Given the description of an element on the screen output the (x, y) to click on. 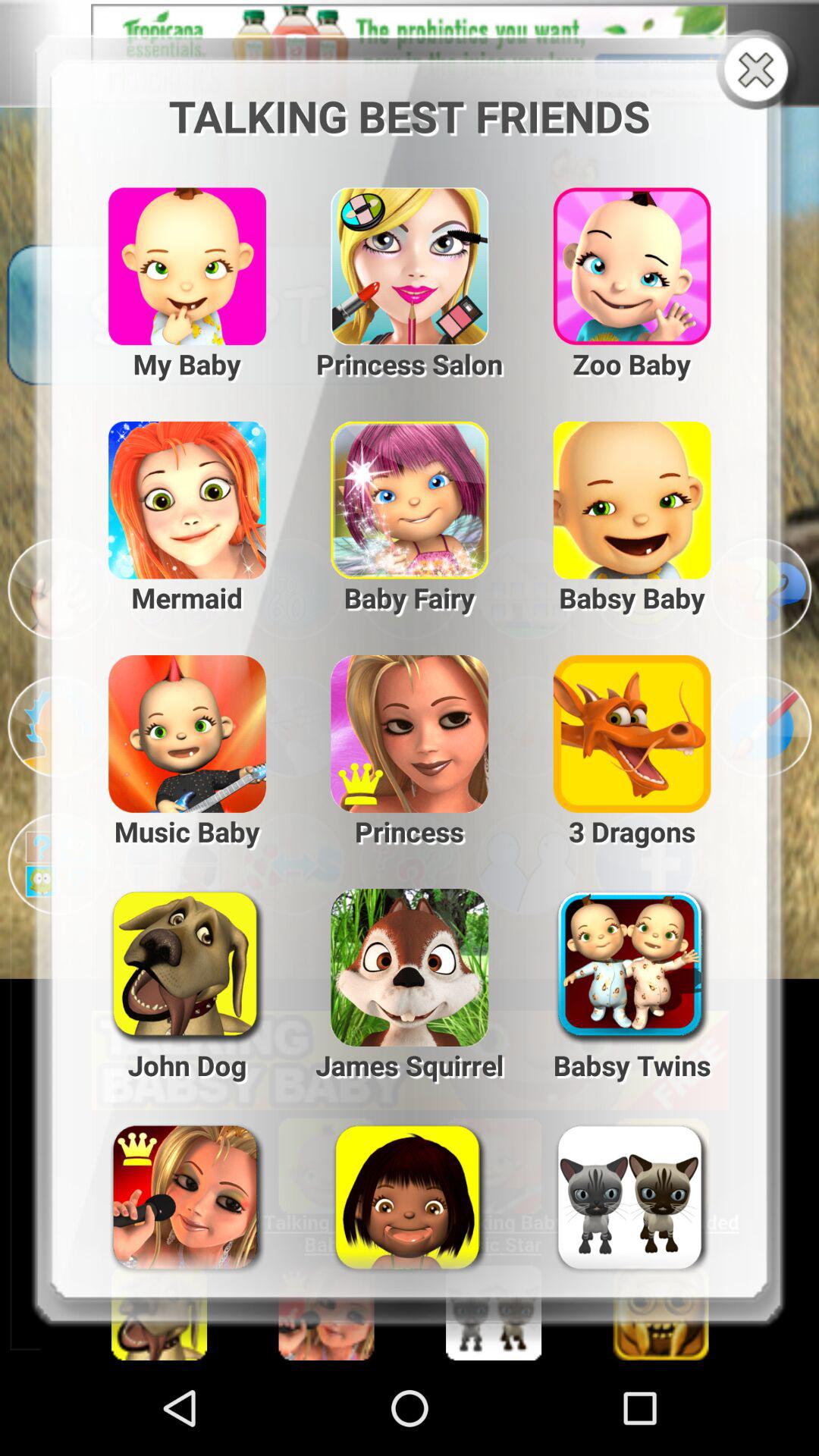
exit button (759, 71)
